Given the description of an element on the screen output the (x, y) to click on. 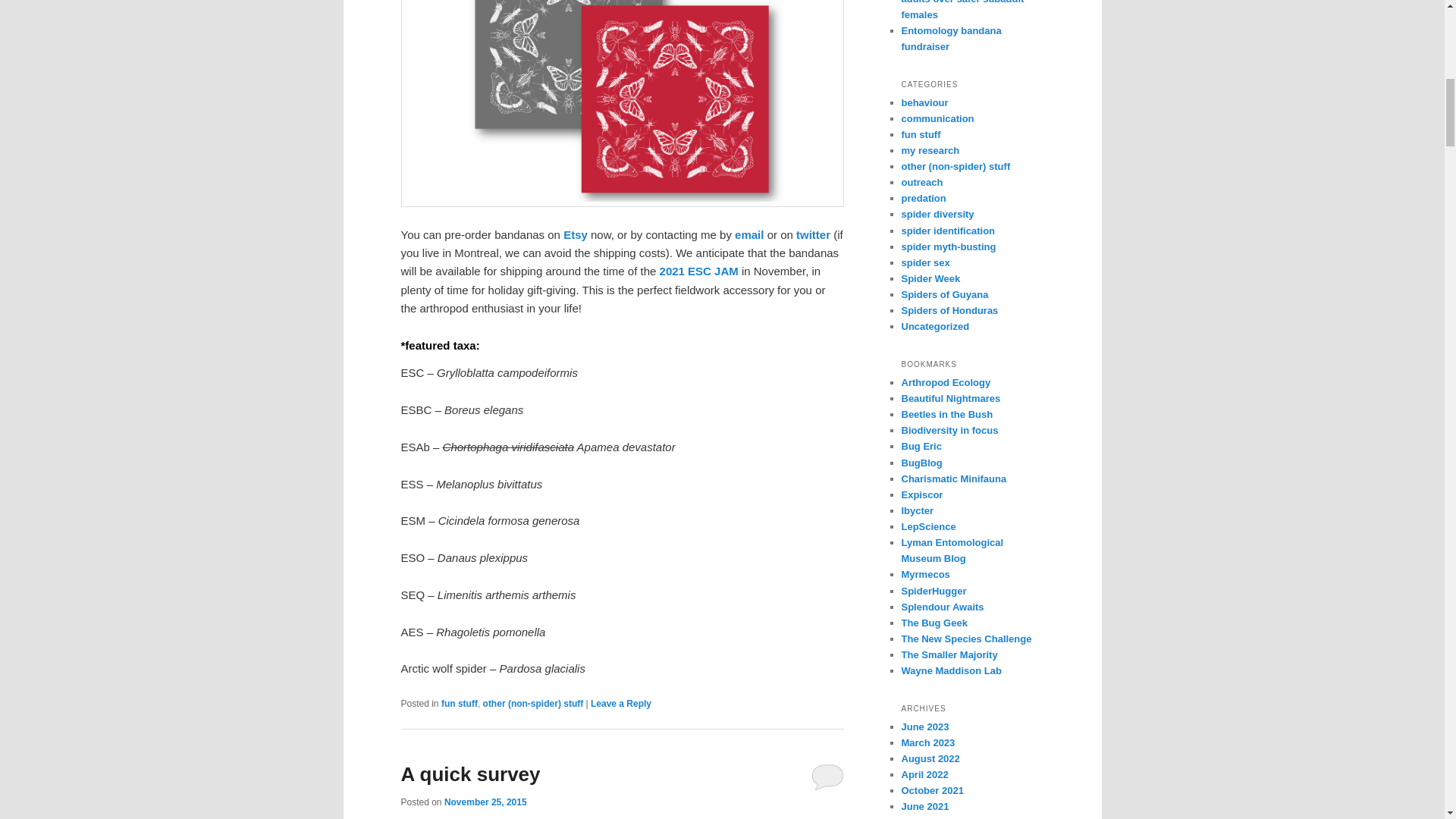
email (748, 234)
Leave a Reply (620, 703)
fun stuff (459, 703)
Many legs, many stories (921, 494)
November 25, 2015 (485, 801)
7:12 am (485, 801)
Jumping spiders and phylogeny (951, 670)
2021 ESC JAM (698, 270)
Photography, science, loud birds.  (917, 510)
twitter (811, 234)
